Given the description of an element on the screen output the (x, y) to click on. 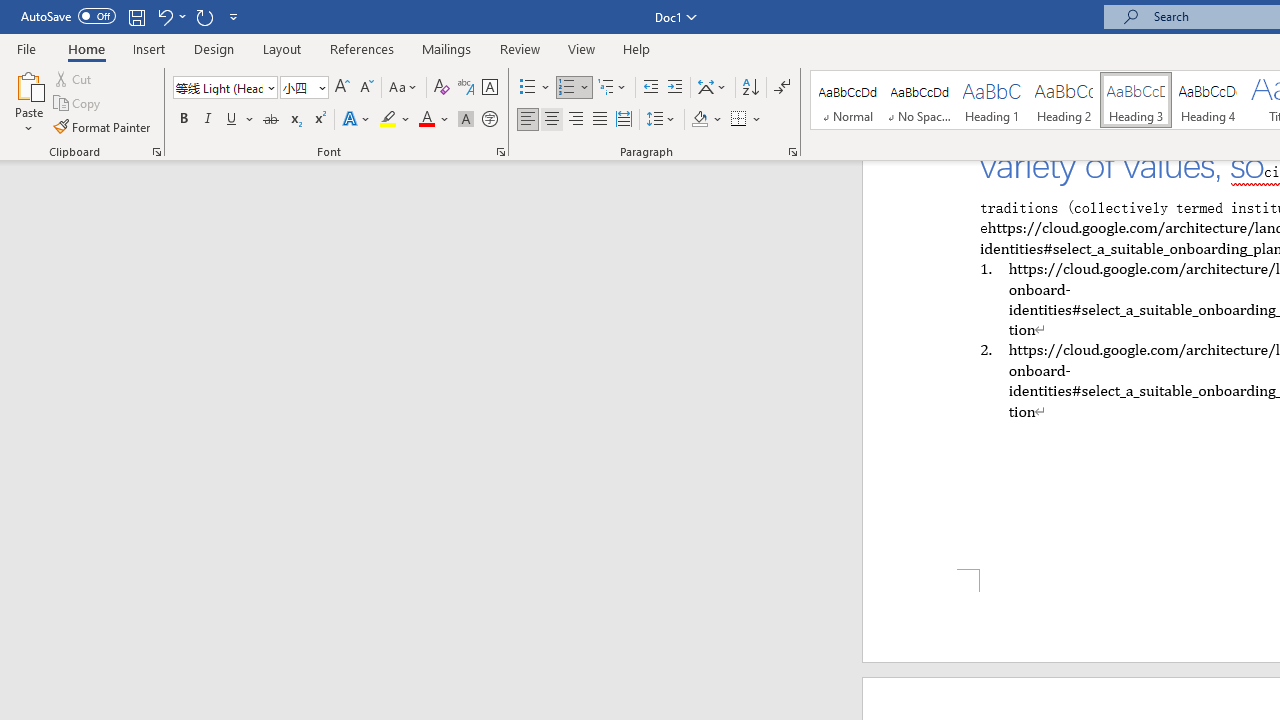
Undo Paragraph Alignment (164, 15)
